Given the description of an element on the screen output the (x, y) to click on. 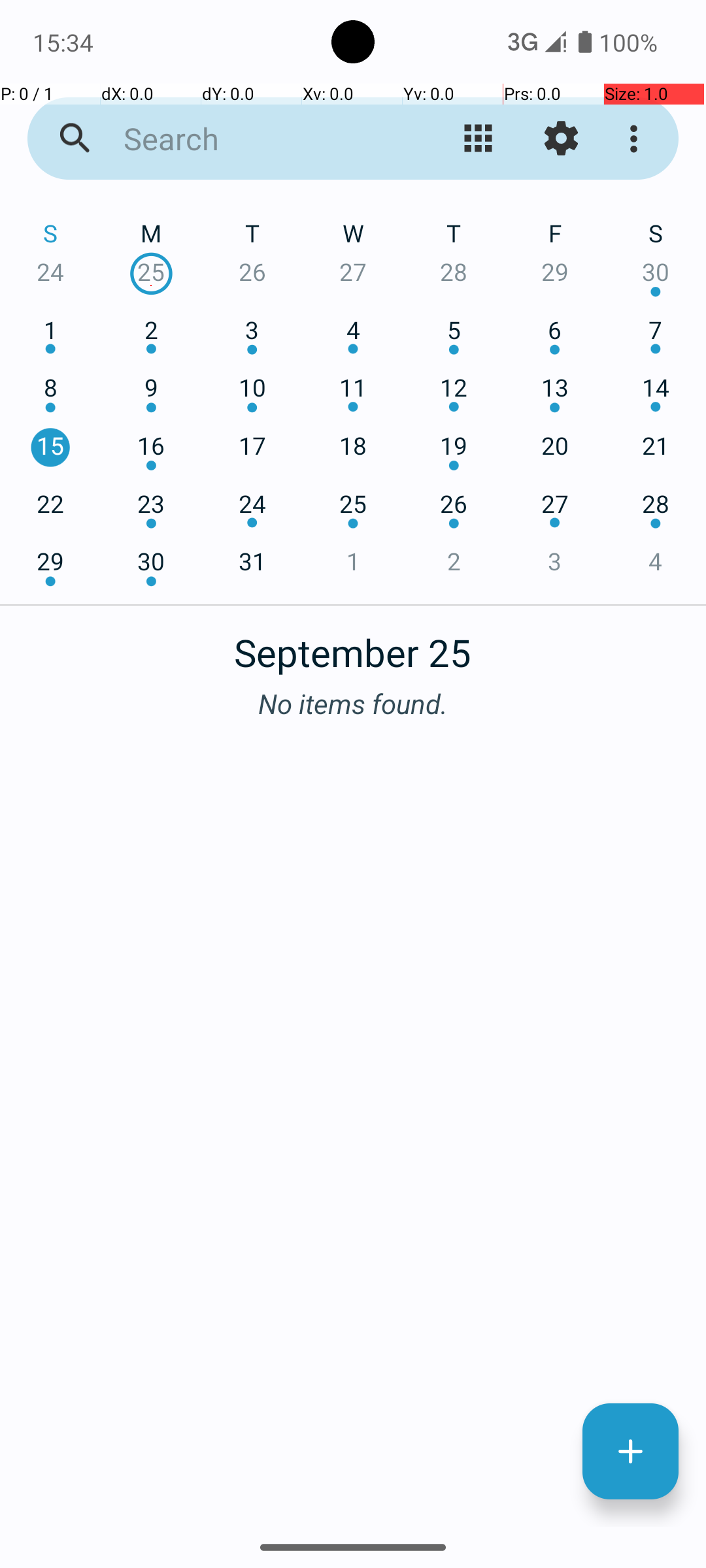
September 25 Element type: android.widget.TextView (352, 644)
